Given the description of an element on the screen output the (x, y) to click on. 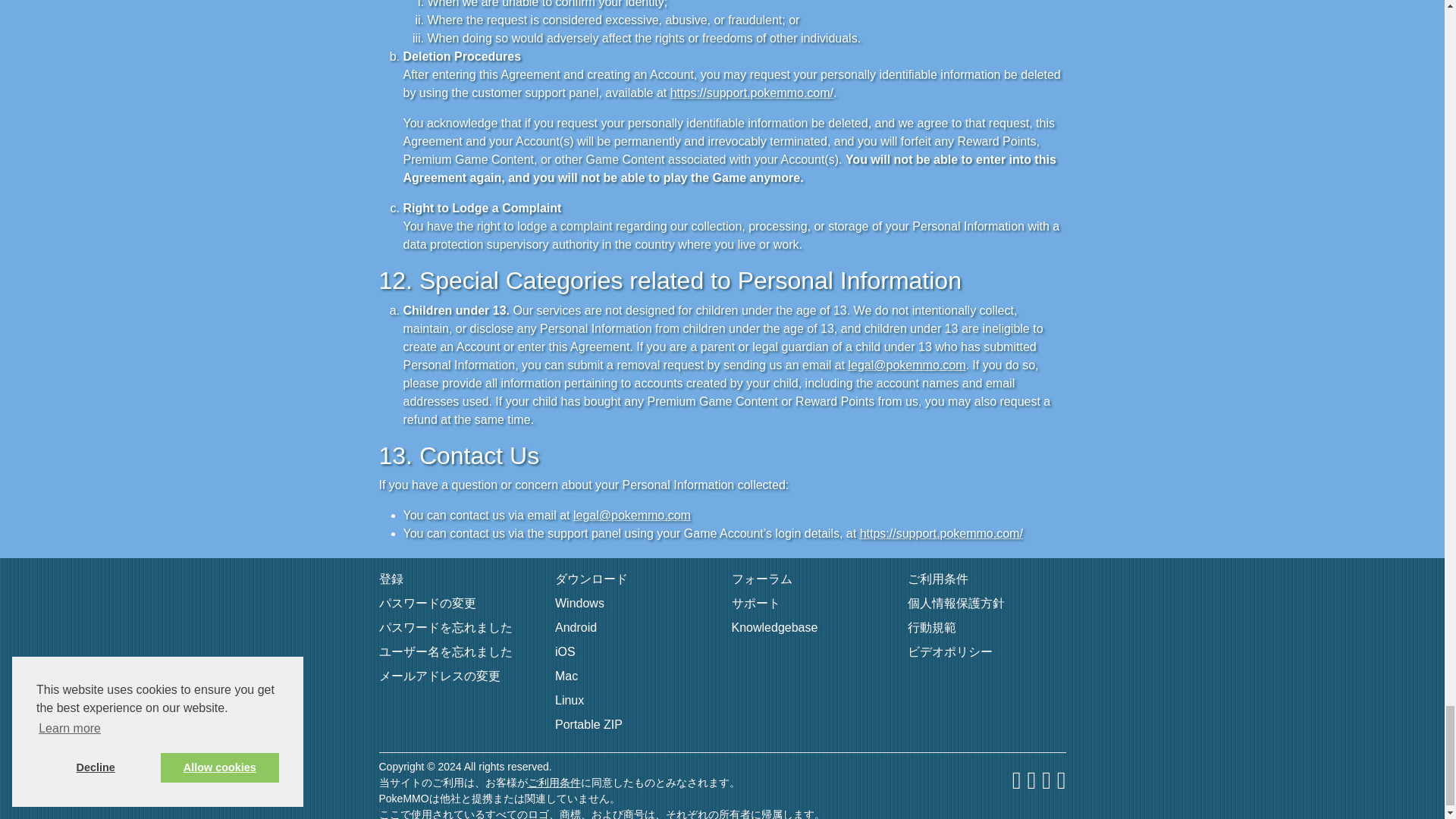
Follow us on Twitter (1030, 780)
Join our Discord (1046, 780)
Subscribe to our Reddit (1061, 780)
Like us on Facebook (1016, 780)
